Given the description of an element on the screen output the (x, y) to click on. 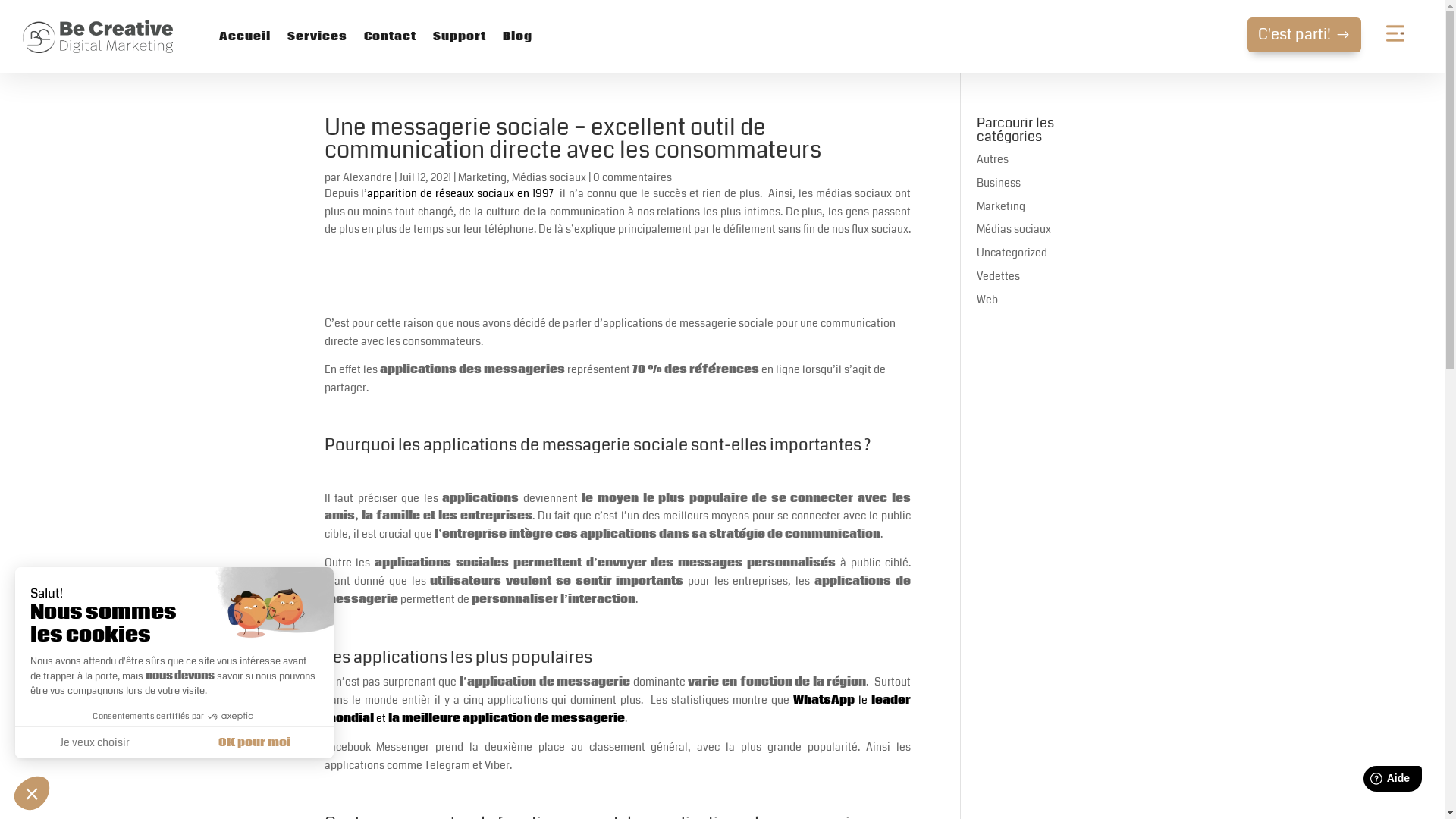
Services Element type: text (317, 36)
Support Element type: text (459, 36)
C'est parti! Element type: text (1304, 34)
Continue and decide later Element type: hover (31, 793)
Business Element type: text (998, 182)
Marketing Element type: text (1000, 205)
Autres Element type: text (992, 158)
OK pour moi Element type: text (253, 742)
Alexandre Element type: text (367, 177)
Contact Element type: text (390, 36)
Web Element type: text (986, 299)
Je veux choisir Element type: text (94, 742)
Marketing Element type: text (482, 177)
0 commentaires Element type: text (632, 177)
Uncategorized Element type: text (1011, 252)
Blog Element type: text (517, 36)
Vedettes Element type: text (997, 275)
Accueil Element type: text (244, 36)
